Given the description of an element on the screen output the (x, y) to click on. 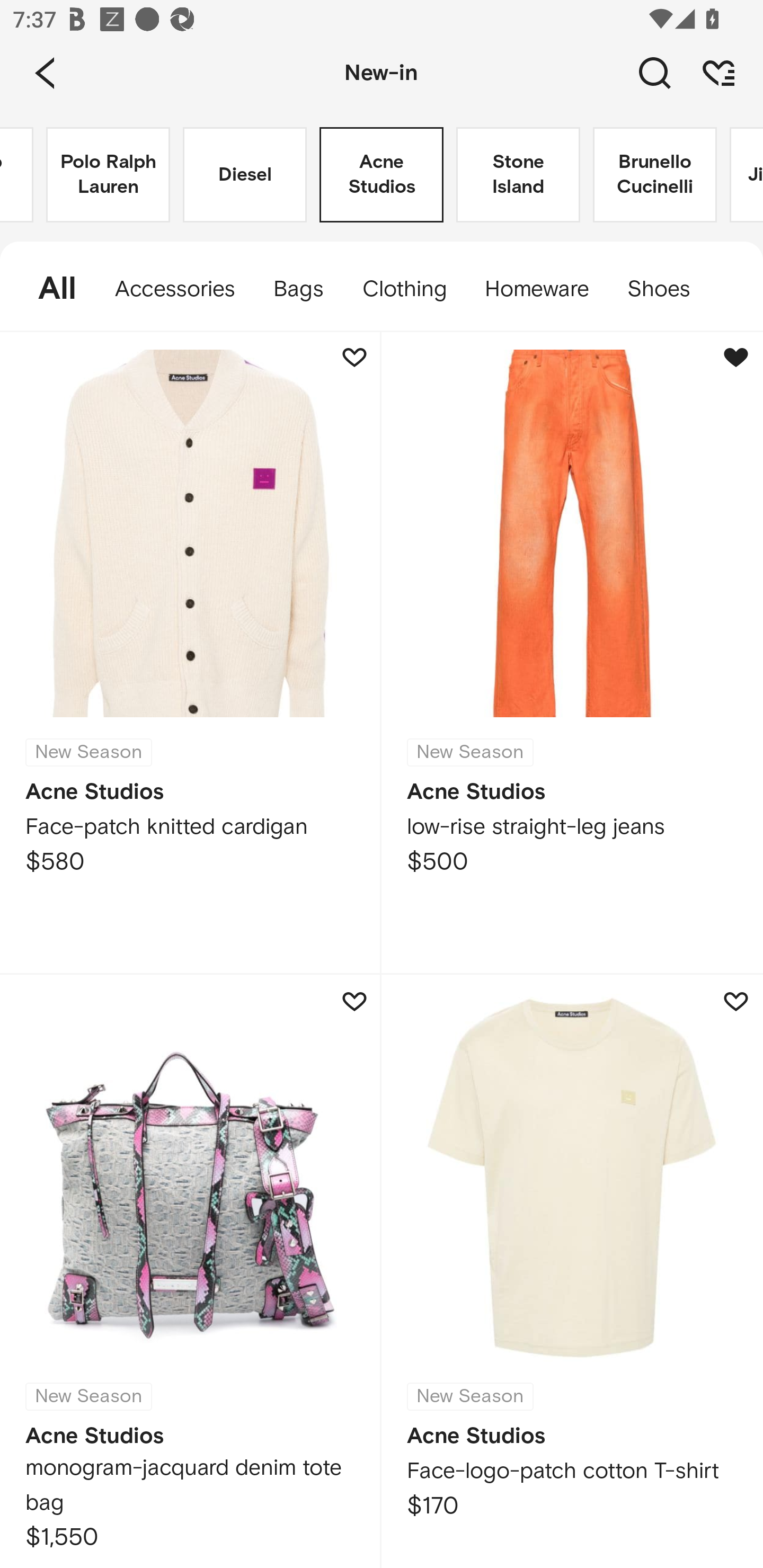
Polo Ralph Lauren (107, 174)
Diesel (244, 174)
Acne Studios (381, 174)
Stone Island (517, 174)
Brunello Cucinelli (654, 174)
All (47, 288)
Accessories (174, 288)
Bags (298, 288)
Clothing (403, 288)
Homeware (536, 288)
Shoes (668, 288)
